Given the description of an element on the screen output the (x, y) to click on. 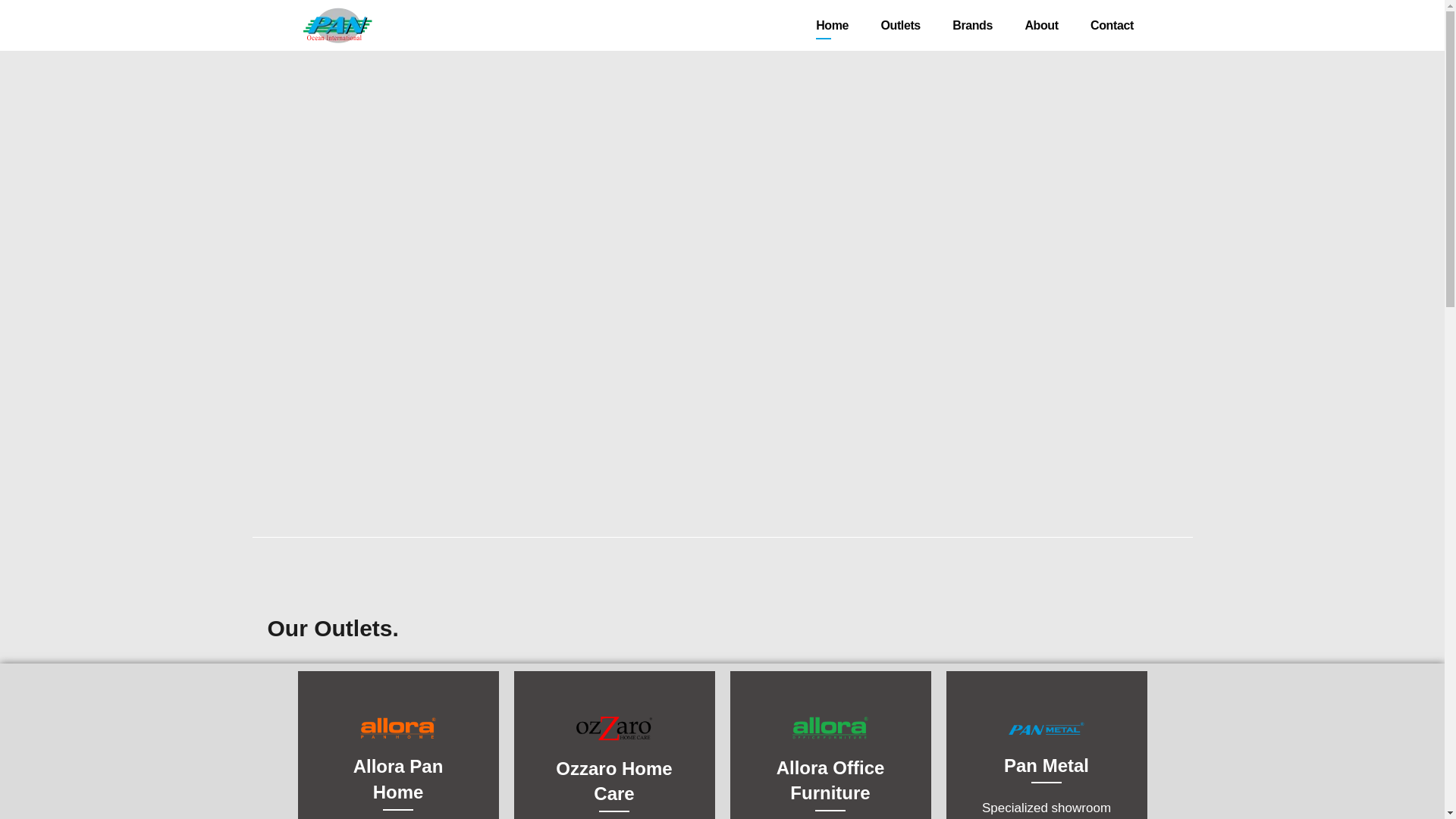
Home (831, 25)
Outlets (900, 25)
Contact (1112, 25)
About (1046, 734)
Brands (1041, 25)
